Given the description of an element on the screen output the (x, y) to click on. 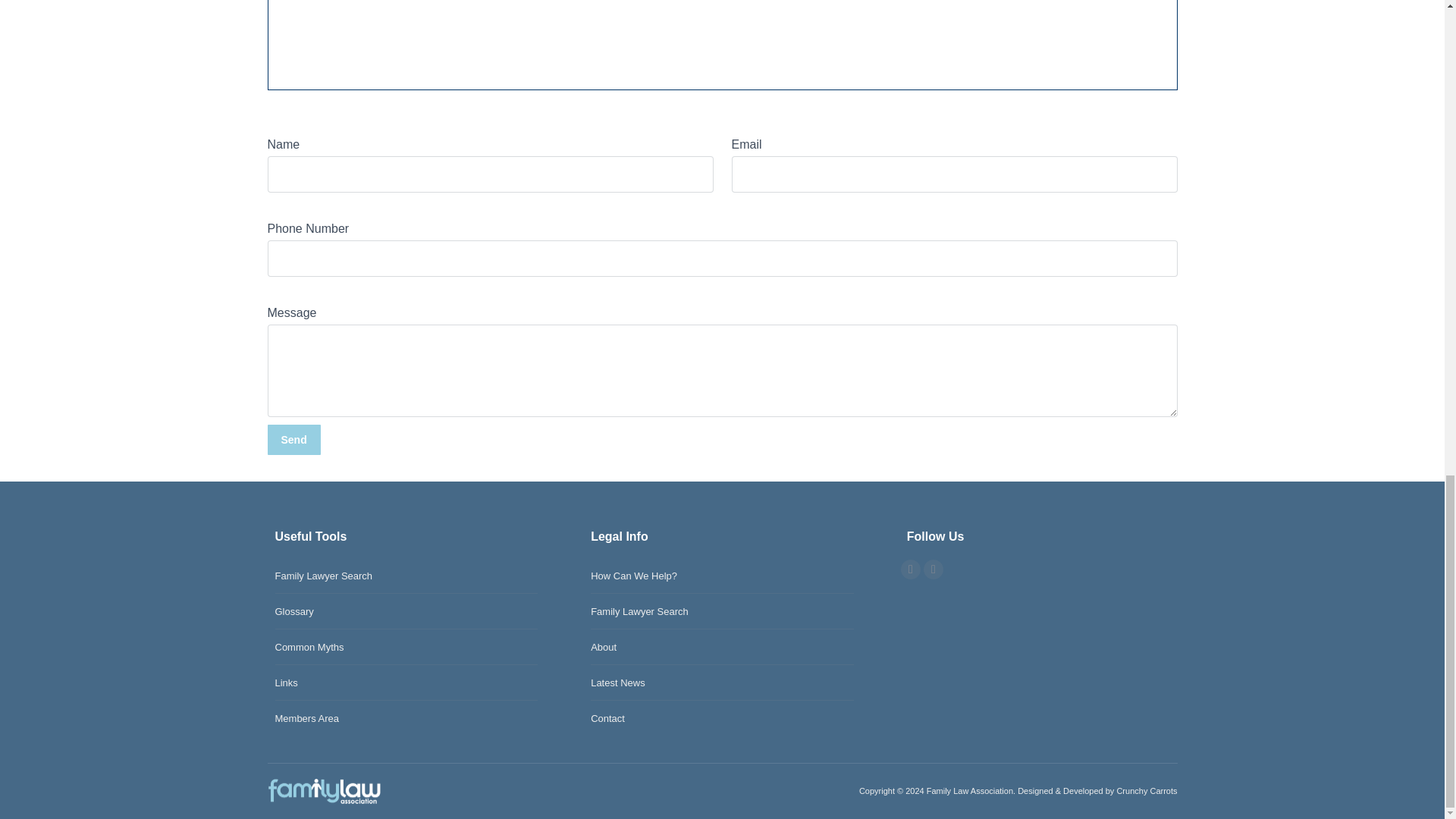
Send (293, 440)
Common Myths (309, 647)
Linkedin page opens in new window (933, 569)
Links (286, 682)
Family Lawyer Search (323, 575)
Twitter page opens in new window (910, 569)
Send (293, 440)
Glossary (294, 611)
